Given the description of an element on the screen output the (x, y) to click on. 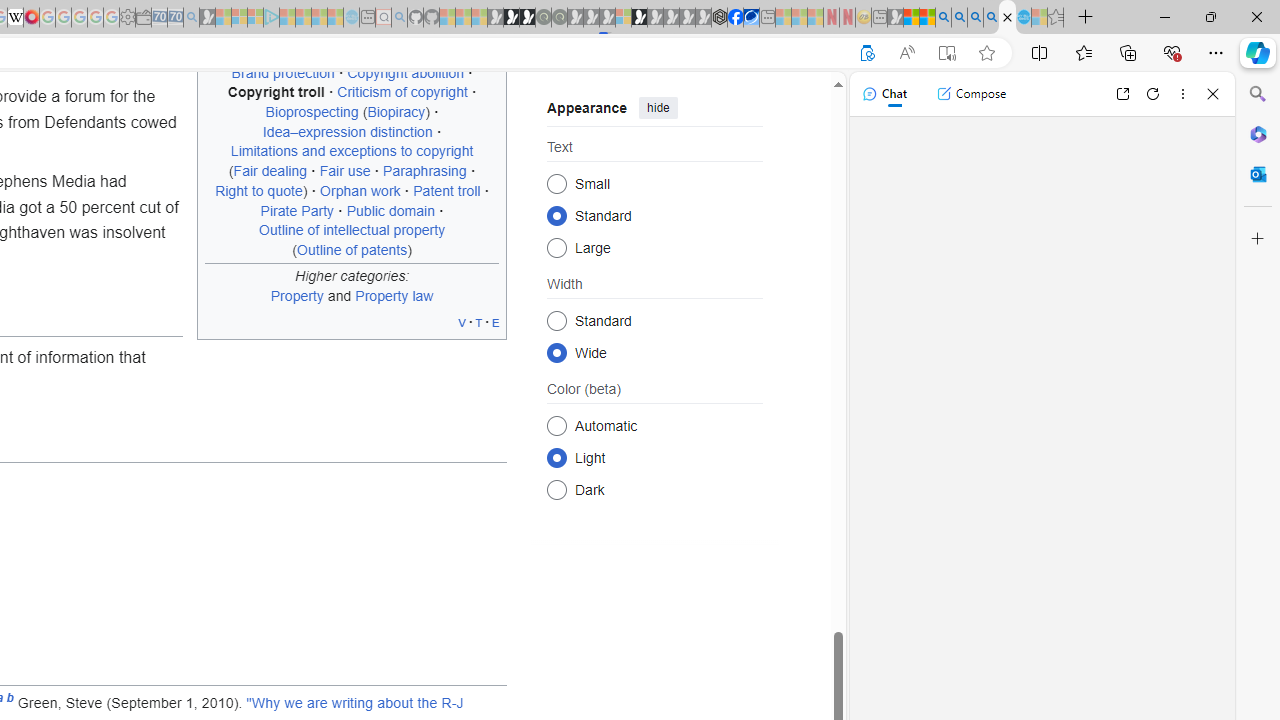
Close tab (1007, 16)
Future Focus Report 2024 - Sleeping (559, 17)
Copyright troll - Wikipedia (1007, 17)
Nordace | Facebook (735, 17)
MSN - Sleeping (895, 17)
t (478, 322)
Public domain (390, 210)
